Given the description of an element on the screen output the (x, y) to click on. 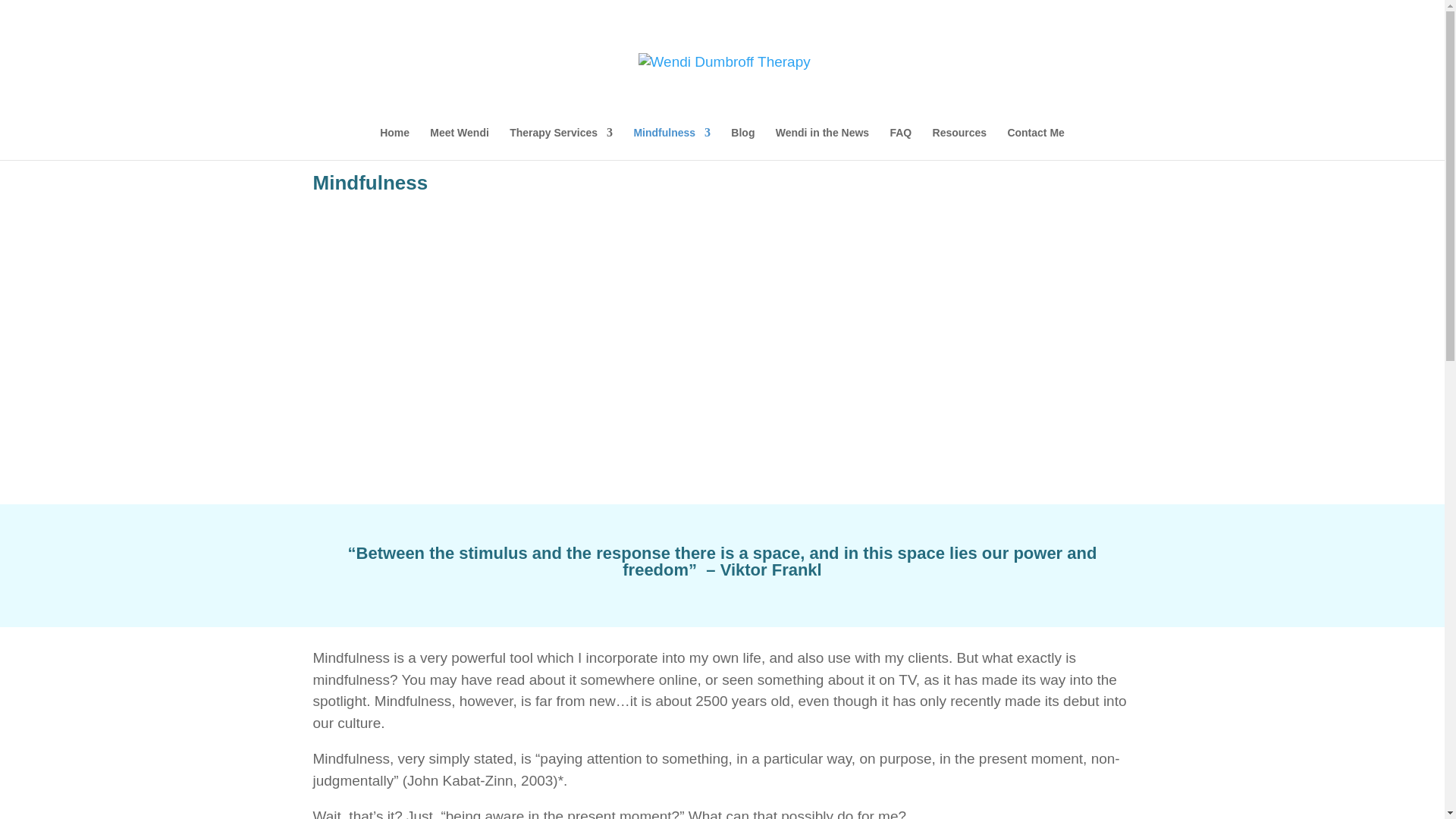
Meet Wendi (459, 143)
Contact Me (1035, 143)
Resources (960, 143)
Home (394, 143)
Mindfulness (671, 143)
Wendi in the News (822, 143)
Therapy Services (560, 143)
